Given the description of an element on the screen output the (x, y) to click on. 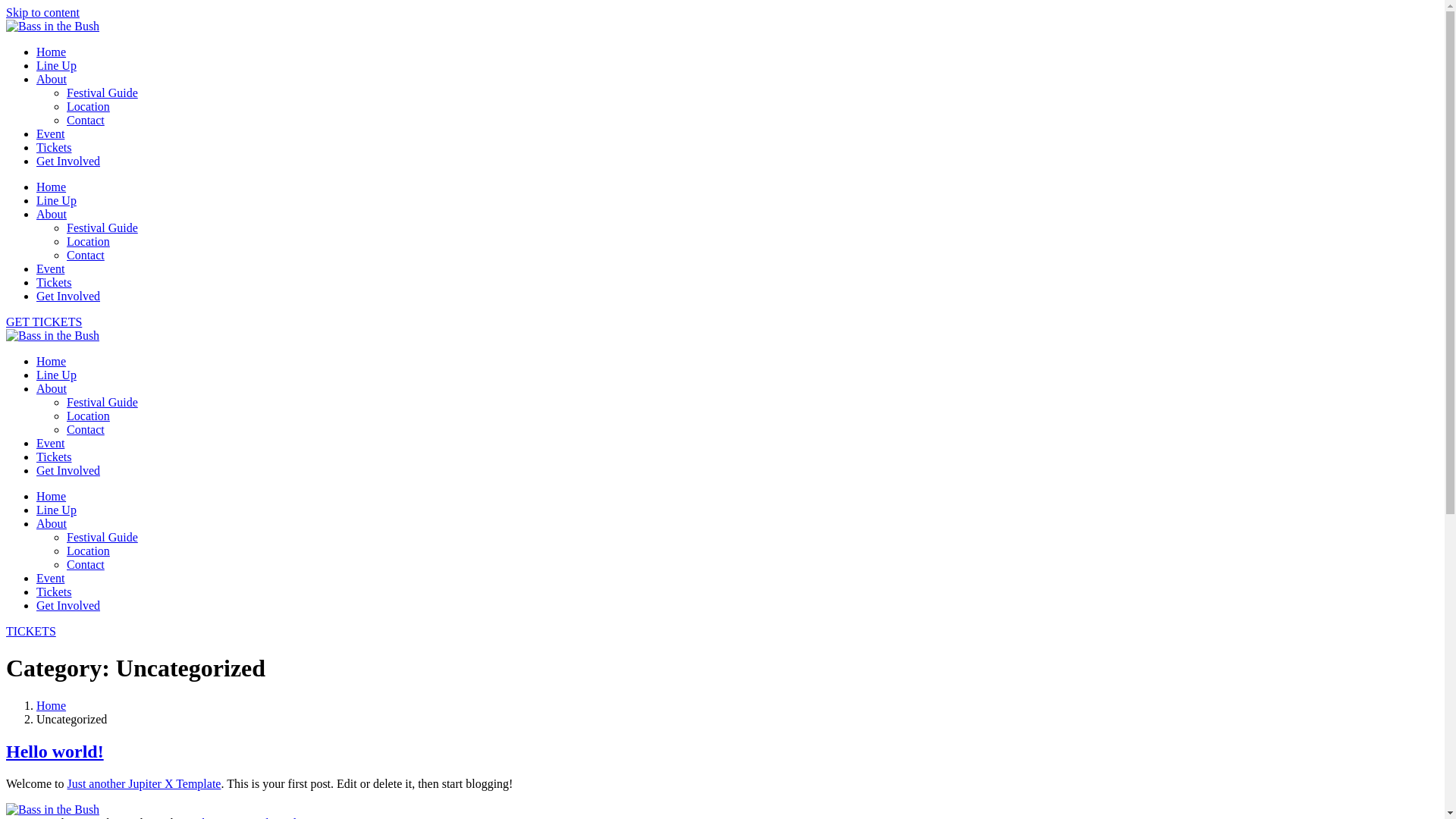
About Element type: text (51, 523)
Location Element type: text (87, 106)
About Element type: text (51, 388)
Just another Jupiter X Template Element type: text (143, 783)
Festival Guide Element type: text (102, 92)
Festival Guide Element type: text (102, 227)
Event Element type: text (50, 442)
Location Element type: text (87, 550)
Event Element type: text (50, 268)
Location Element type: text (87, 415)
Get Involved Element type: text (68, 605)
Location Element type: text (87, 241)
About Element type: text (51, 78)
Home Element type: text (50, 705)
Line Up Element type: text (56, 374)
Hello world! Element type: text (54, 751)
Home Element type: text (50, 495)
Home Element type: text (50, 360)
Line Up Element type: text (56, 65)
Contact Element type: text (85, 429)
Tickets Element type: text (54, 456)
GET TICKETS Element type: text (722, 322)
Event Element type: text (50, 133)
Tickets Element type: text (54, 147)
Home Element type: text (50, 51)
Skip to content Element type: text (42, 12)
Get Involved Element type: text (68, 295)
Festival Guide Element type: text (102, 536)
Tickets Element type: text (54, 591)
Get Involved Element type: text (68, 470)
Home Element type: text (50, 186)
Festival Guide Element type: text (102, 401)
Tickets Element type: text (54, 282)
Event Element type: text (50, 577)
Contact Element type: text (85, 564)
Line Up Element type: text (56, 200)
Line Up Element type: text (56, 509)
Get Involved Element type: text (68, 160)
Contact Element type: text (85, 119)
About Element type: text (51, 213)
TICKETS Element type: text (722, 631)
Contact Element type: text (85, 254)
